Given the description of an element on the screen output the (x, y) to click on. 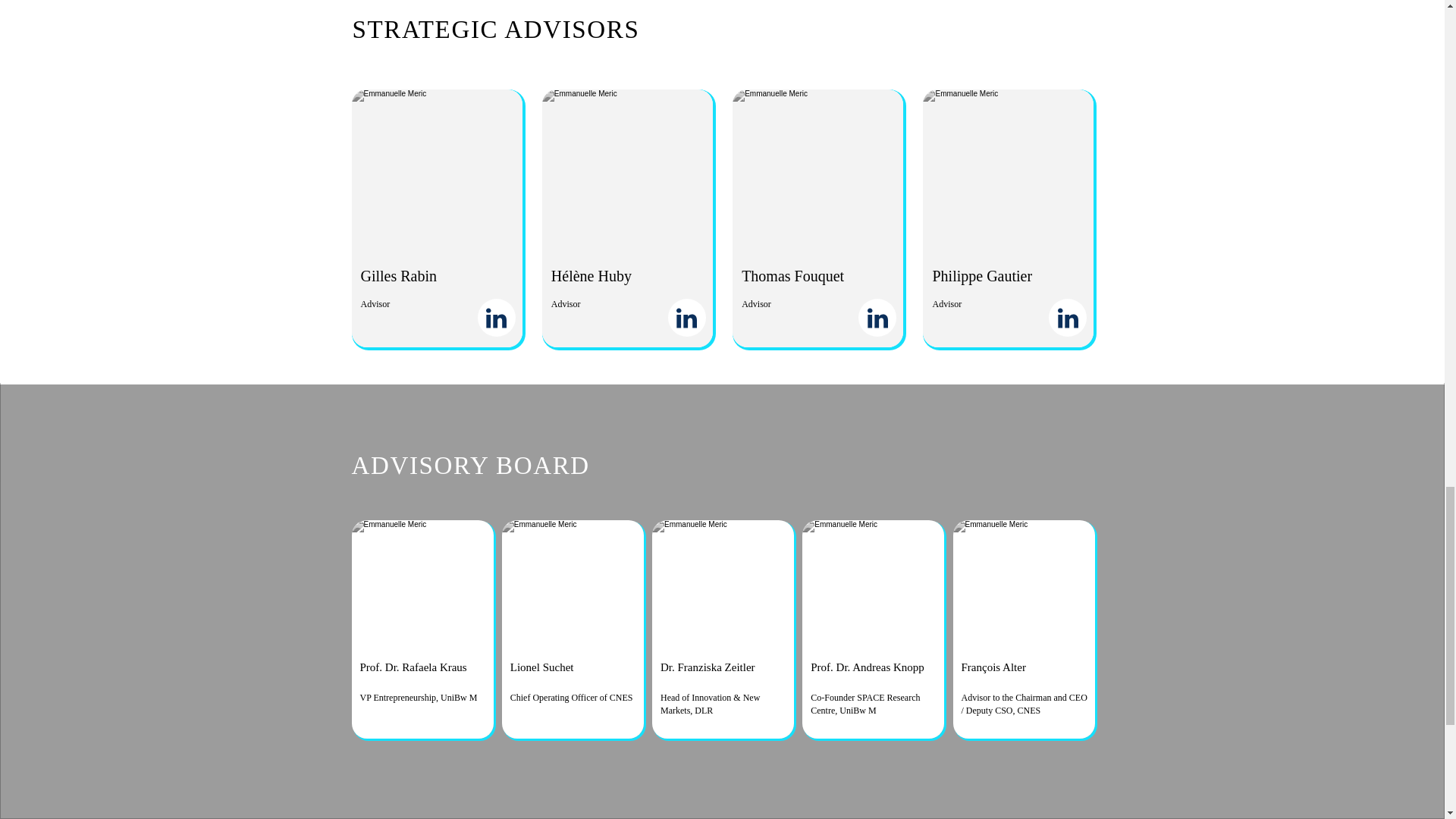
Lionel.jpg (573, 582)
Thomas.jpg (817, 170)
Philippe.jpg (1008, 170)
Gilles.jpg (437, 170)
Franziska.jpg (723, 582)
